Given the description of an element on the screen output the (x, y) to click on. 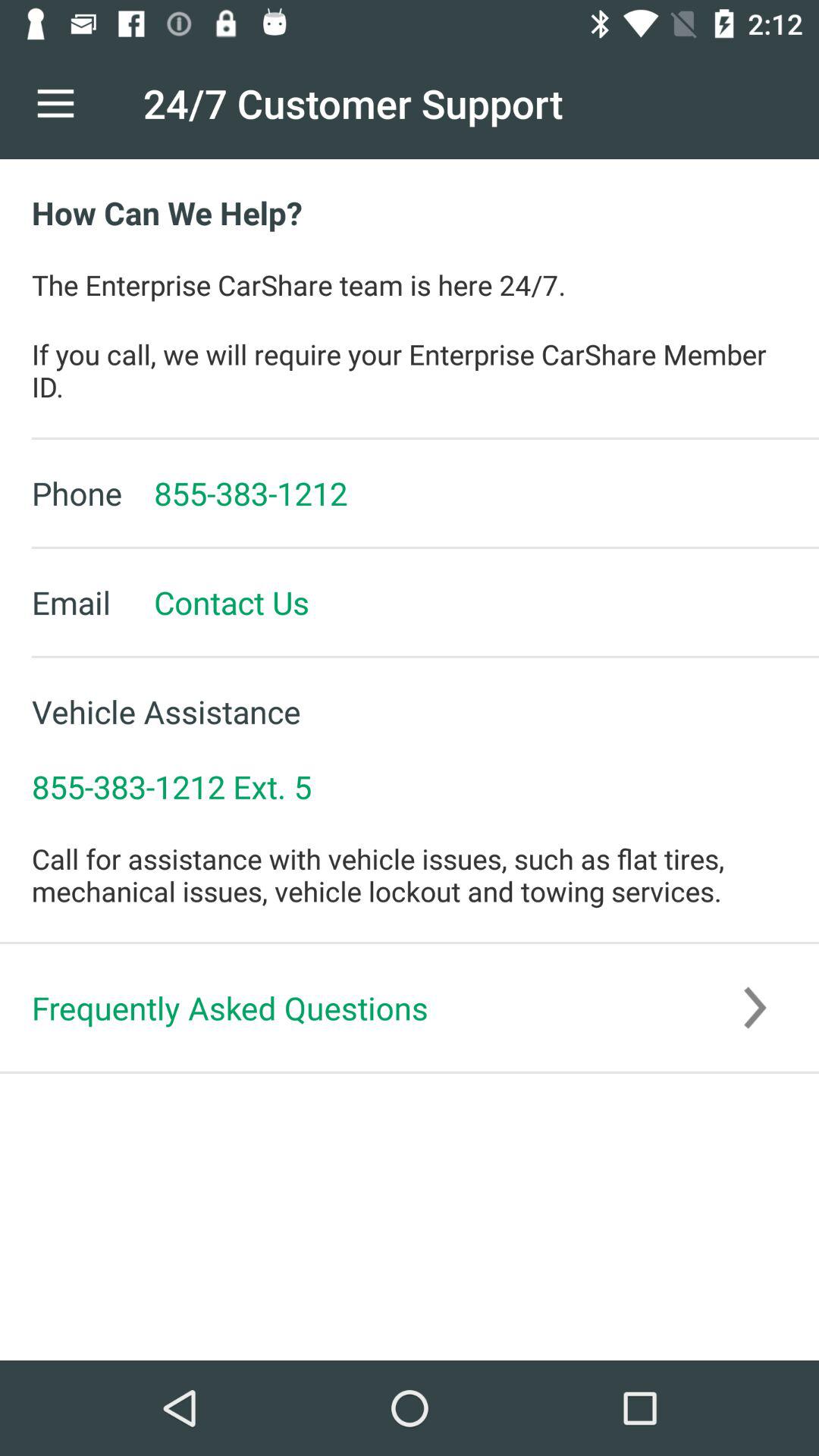
swipe to frequently asked questions item (409, 1007)
